Given the description of an element on the screen output the (x, y) to click on. 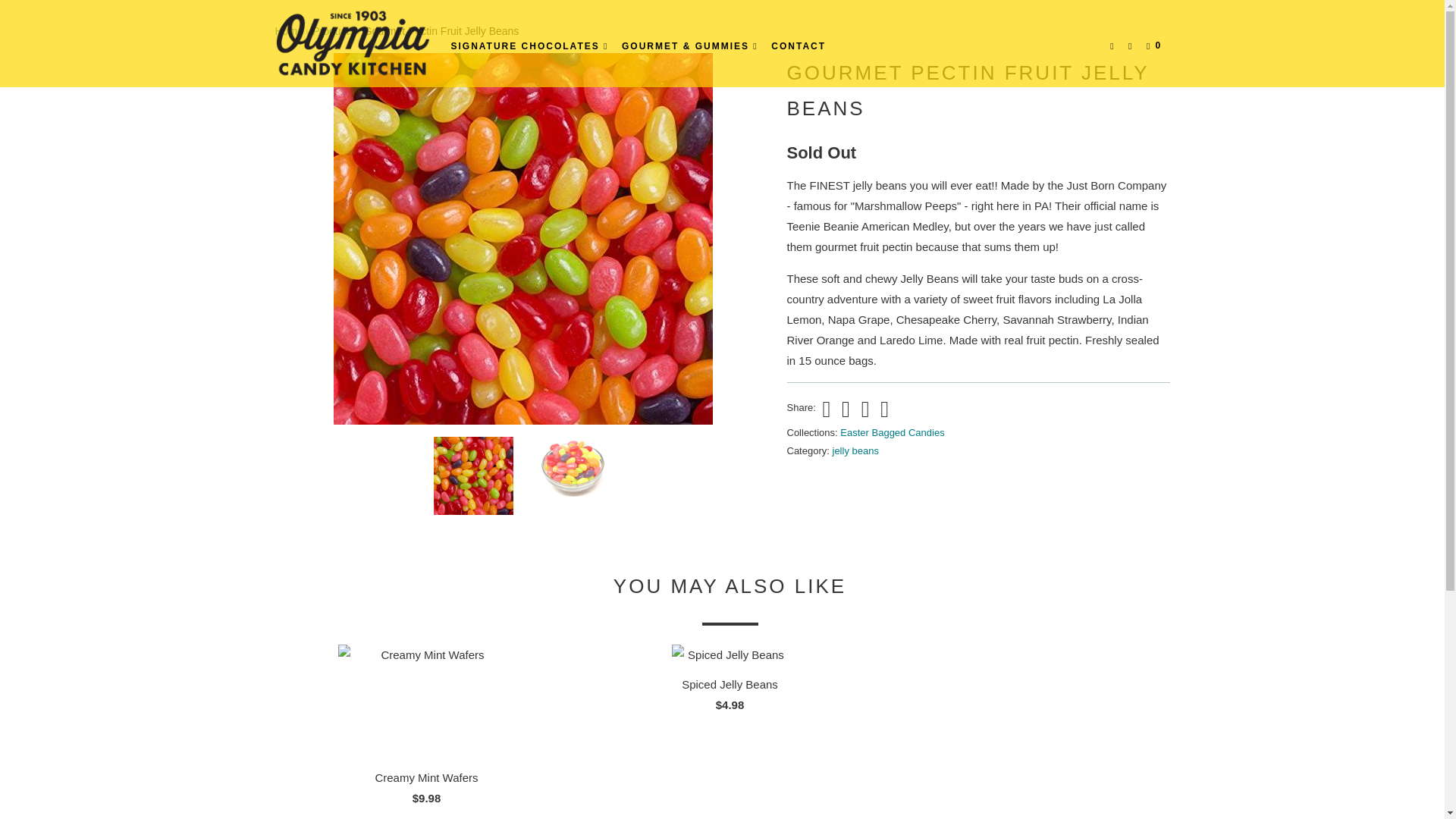
SIGNATURE CHOCOLATES (529, 46)
Olympia Candy Kitchen (352, 43)
Easter Bagged Candies (891, 432)
Products (333, 30)
0 (1154, 46)
Products tagged jelly beans (855, 450)
Olympia Candy Kitchen (288, 30)
